Given the description of an element on the screen output the (x, y) to click on. 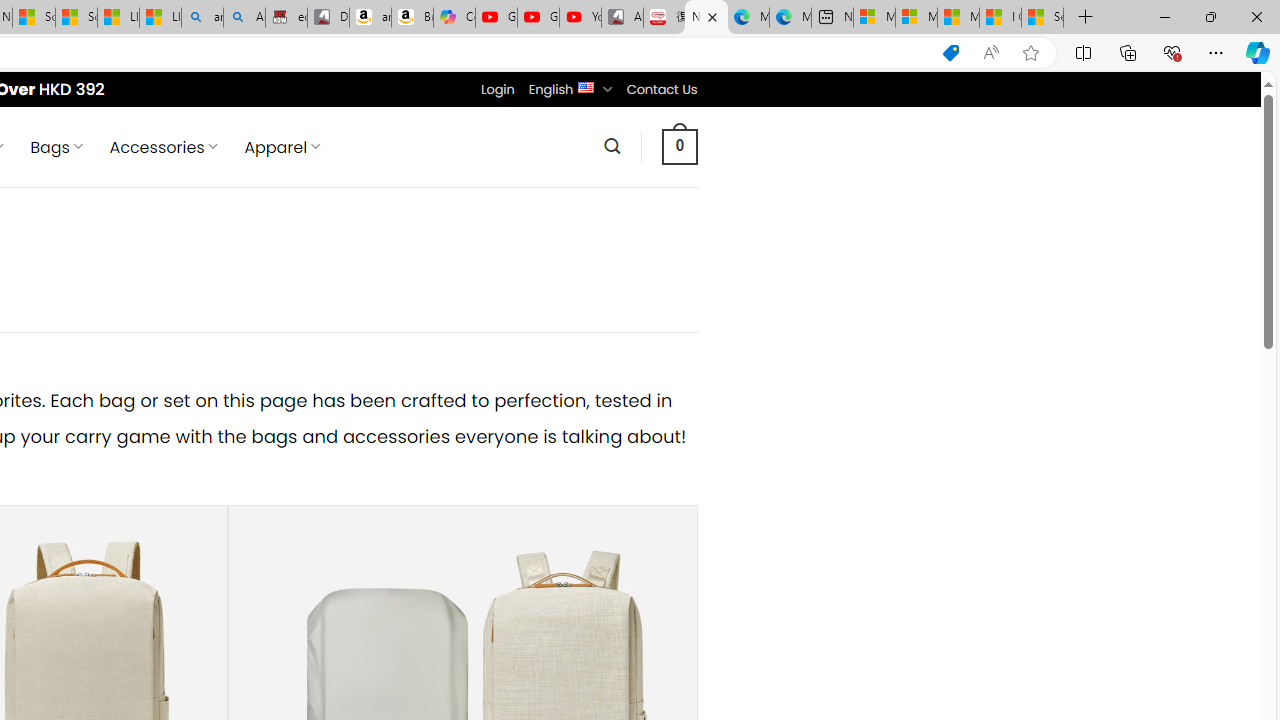
Gloom - YouTube (538, 17)
Contact Us (661, 89)
Login (497, 89)
YouTube Kids - An App Created for Kids to Explore Content (580, 17)
Login (497, 89)
Outlook (1258, 174)
All Cubot phones (621, 17)
